Given the description of an element on the screen output the (x, y) to click on. 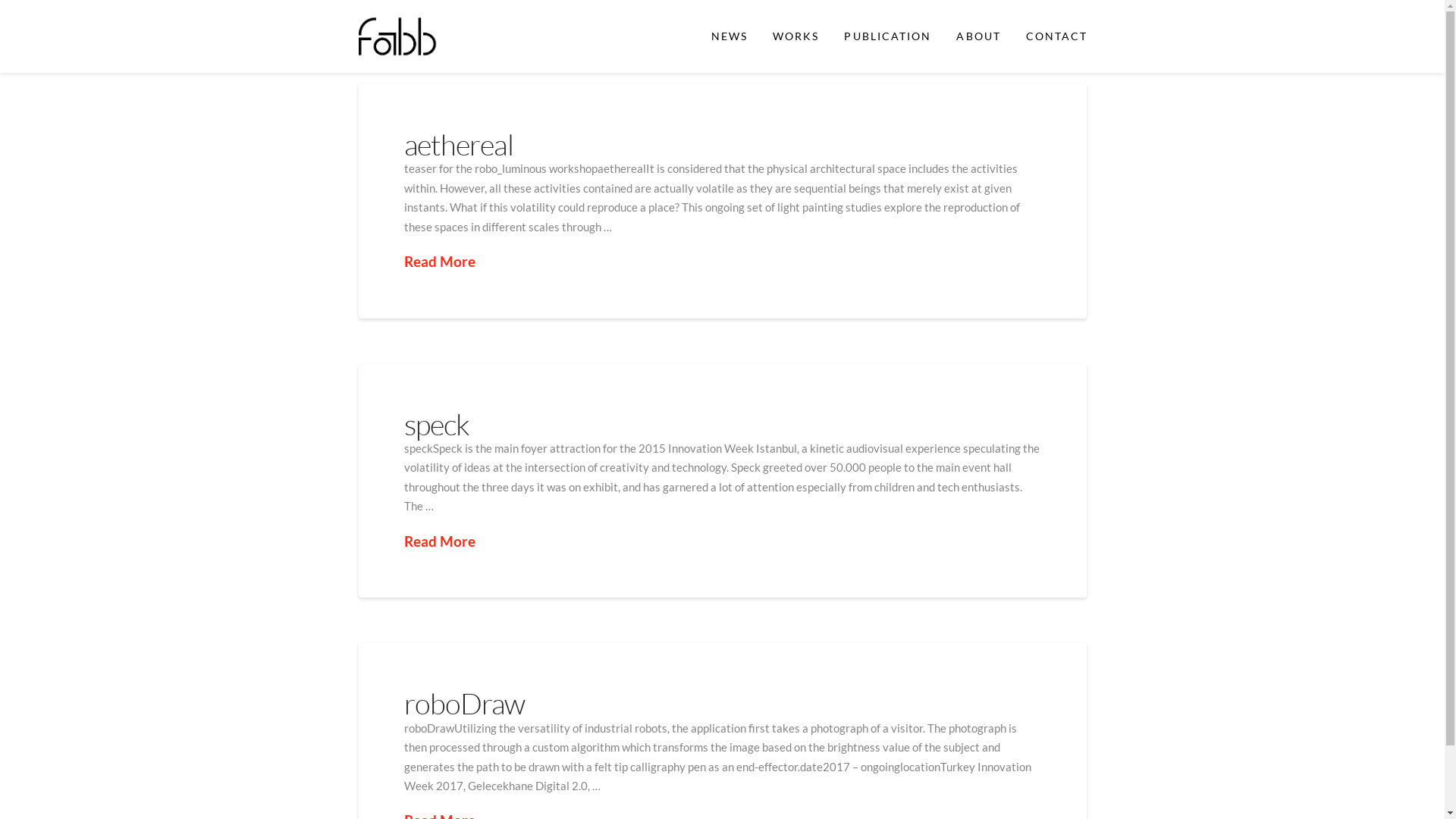
roboDraw Element type: text (463, 703)
ABOUT Element type: text (977, 36)
aethereal Element type: text (457, 144)
Read More Element type: text (438, 541)
CONTACT Element type: text (1055, 36)
speck Element type: text (436, 424)
Read More Element type: text (438, 261)
PUBLICATION Element type: text (887, 36)
NEWS Element type: text (728, 36)
WORKS Element type: text (795, 36)
